Given the description of an element on the screen output the (x, y) to click on. 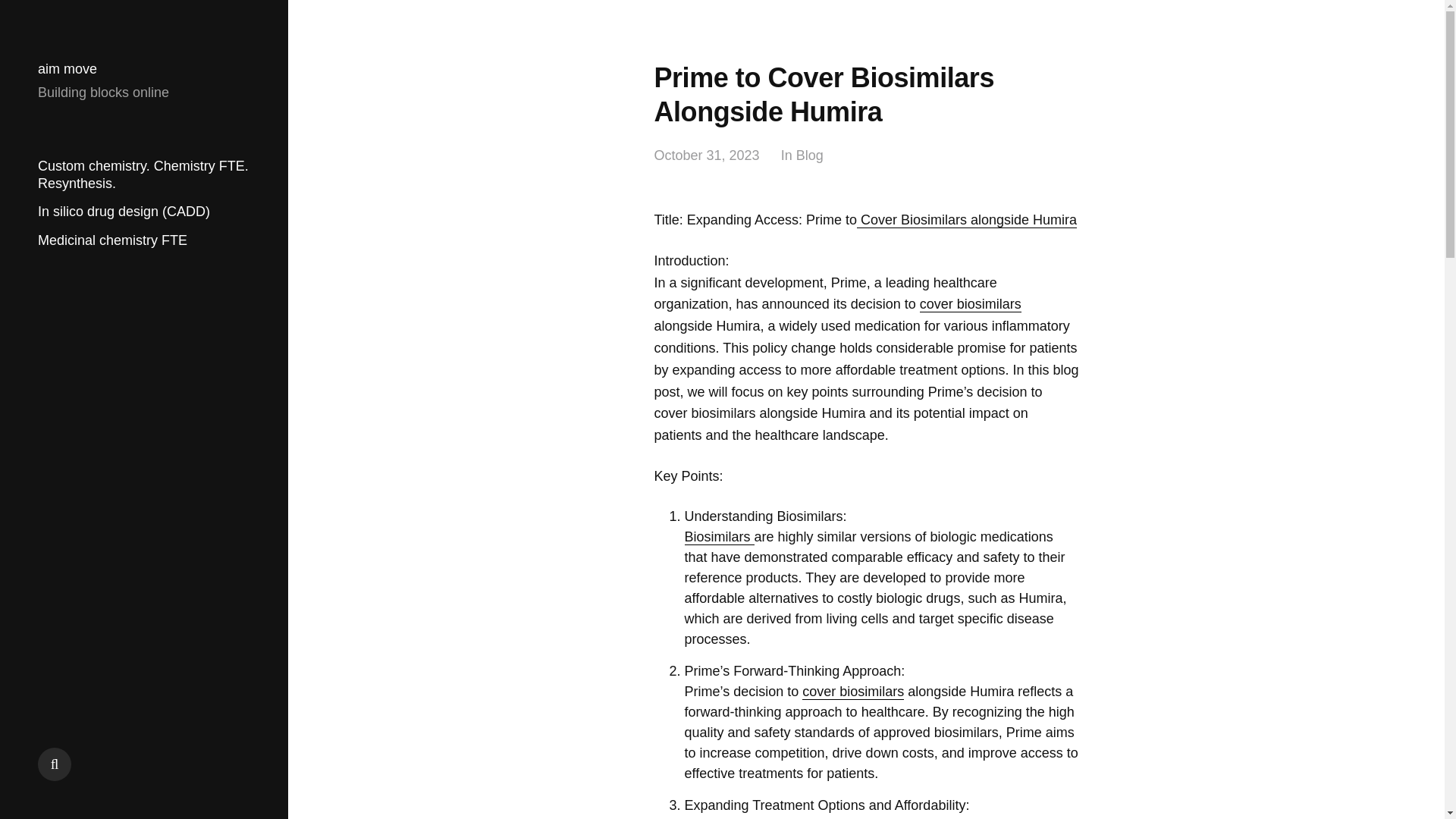
biosimilars (817, 818)
Custom chemistry. Chemistry FTE. Resynthesis. (142, 174)
cover biosimilars (853, 691)
cover biosimilars (971, 304)
Blog (810, 155)
Medicinal chemistry FTE (112, 239)
Biosimilars (719, 537)
Cover Biosimilars alongside Humira (967, 220)
October 31, 2023 (705, 155)
aim move (67, 68)
